Given the description of an element on the screen output the (x, y) to click on. 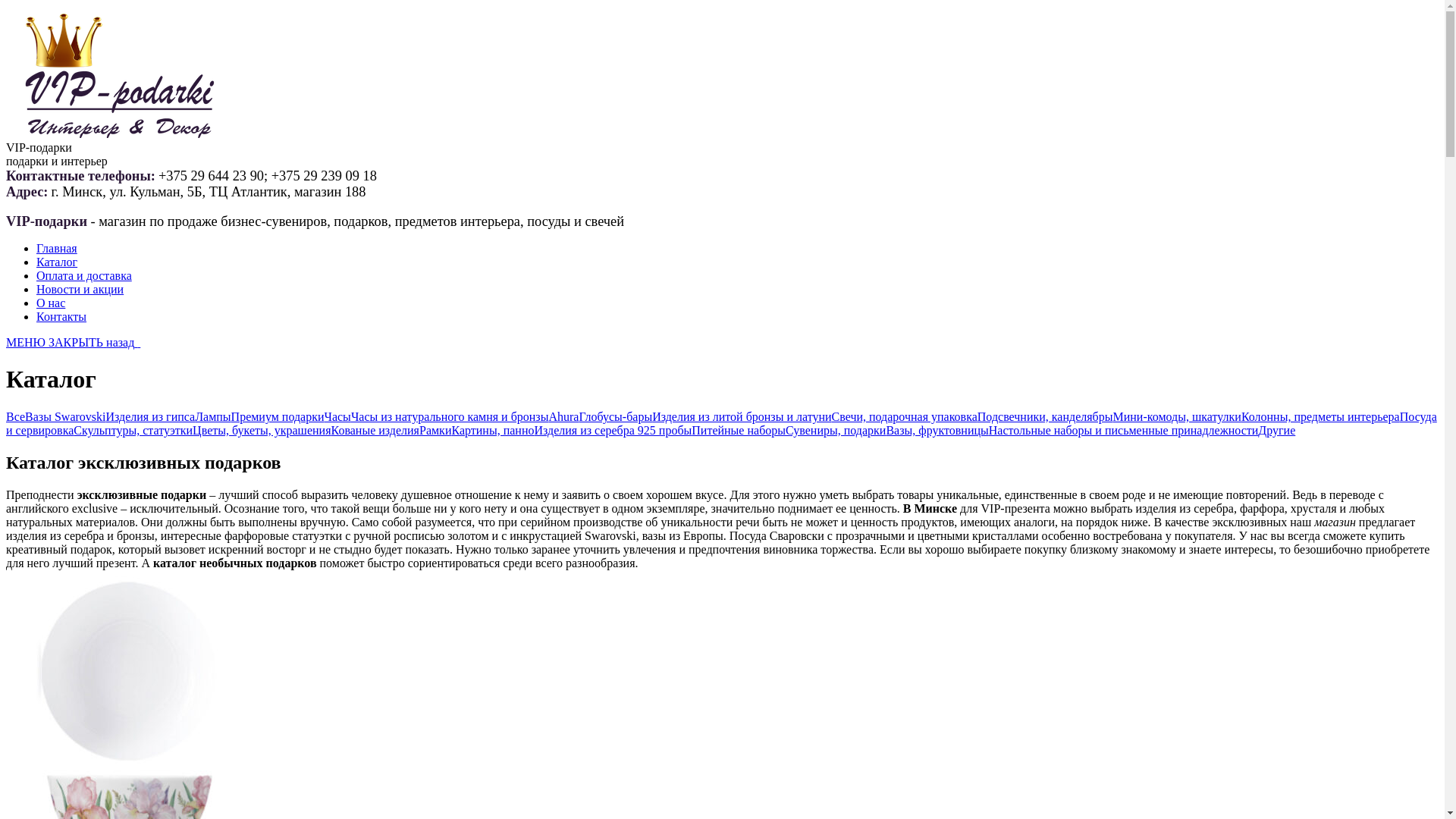
Ahura Element type: text (563, 416)
